Given the description of an element on the screen output the (x, y) to click on. 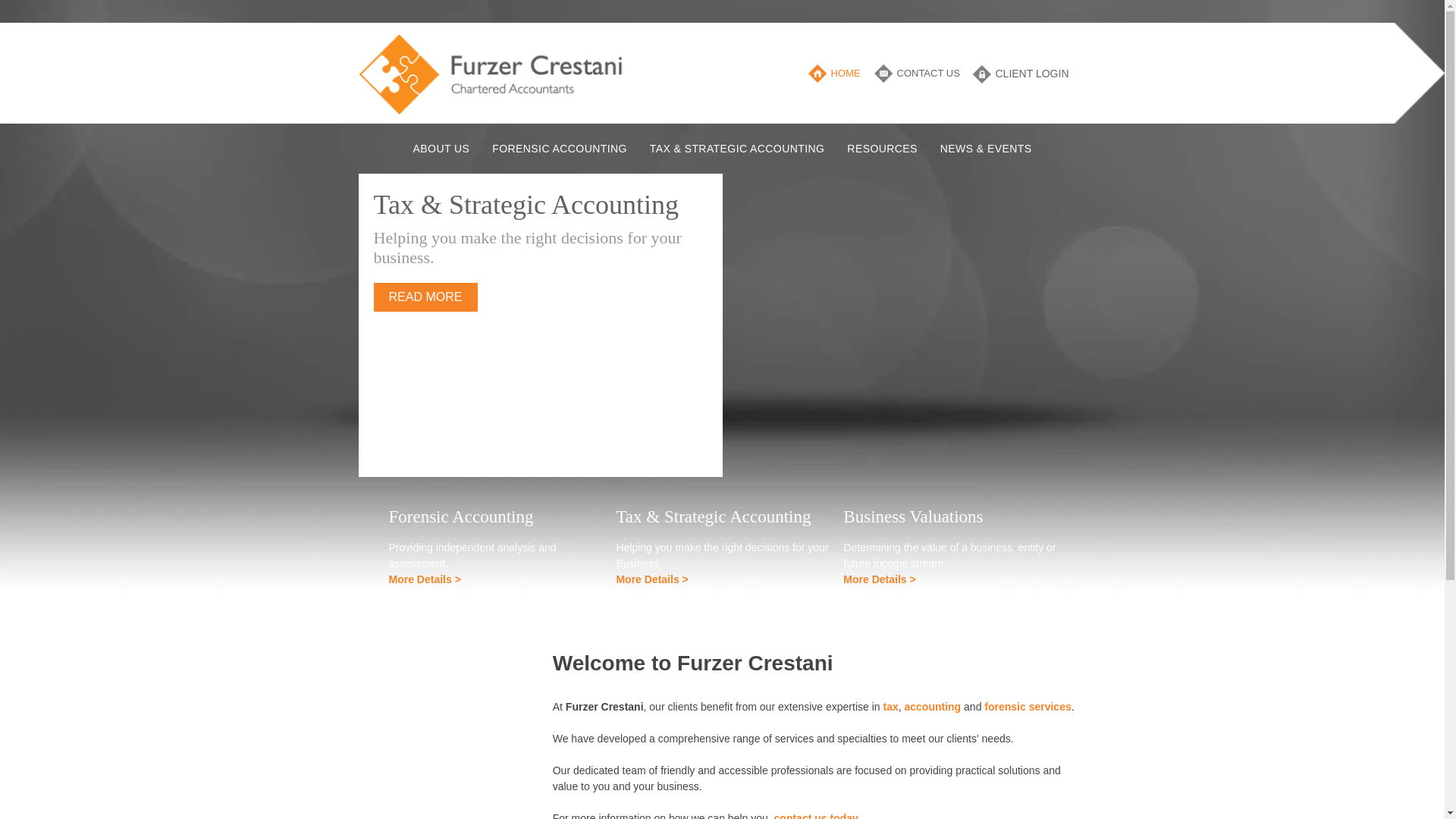
More Details > Element type: text (879, 579)
RESOURCES Element type: text (881, 148)
accounting Element type: text (931, 706)
tax Element type: text (889, 706)
READ MORE Element type: text (424, 276)
FURZER CRESTANI Element type: hover (493, 74)
More Details > Element type: text (651, 579)
CLIENT LOGIN Element type: text (1031, 73)
Tax Facts Element type: text (377, 753)
Handbooks Element type: text (381, 656)
Useful Links Element type: text (383, 801)
forensic services Element type: text (1027, 706)
More Details > Element type: text (424, 579)
FORENSIC ACCOUNTING Element type: text (559, 148)
Calculators Element type: text (381, 704)
CONTACT US Element type: text (927, 72)
TAX & STRATEGIC ACCOUNTING Element type: text (737, 148)
NEWS & EVENTS Element type: text (985, 148)
HOME Element type: text (845, 72)
ABOUT US Element type: text (441, 148)
